Given the description of an element on the screen output the (x, y) to click on. 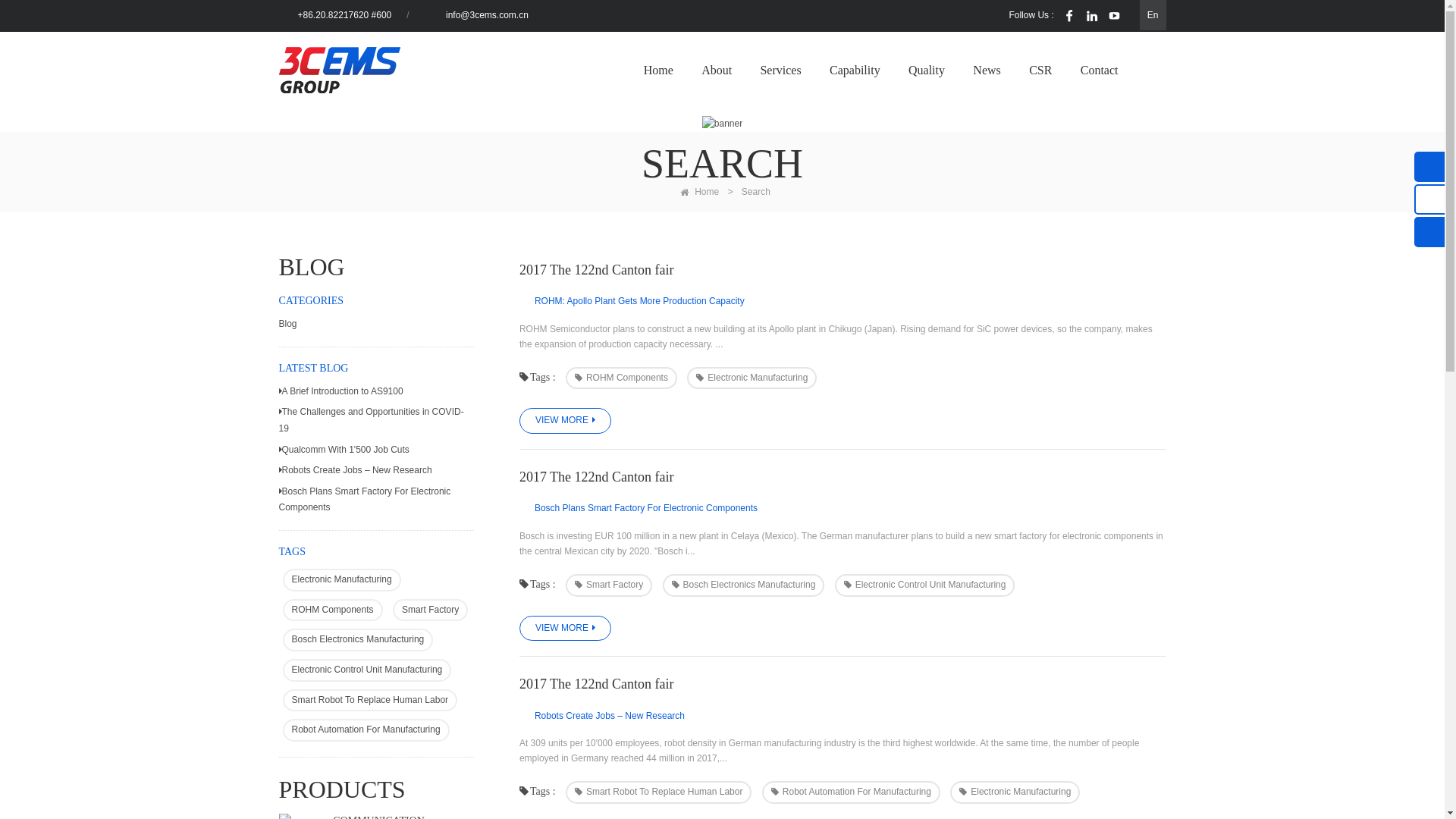
A Brief Introduction to AS9100 Element type: text (376, 391)
About Element type: text (716, 70)
Contact Element type: text (1099, 70)
2017 The 122nd Canton fair Element type: text (842, 683)
News Element type: text (986, 70)
Robot Automation For Manufacturing Element type: text (851, 792)
Smart Factory Element type: text (608, 585)
VIEW MORE Element type: text (565, 628)
Bosch Plans Smart Factory For Electronic Components Element type: text (376, 499)
Bosch Electronics Manufacturing Element type: text (743, 585)
2017 The 122nd Canton fair Element type: text (842, 269)
2017 The 122nd Canton fair Element type: text (842, 476)
Electronic Control Unit Manufacturing Element type: text (924, 585)
The Challenges and Opportunities in COVID-19 Element type: text (376, 420)
Electronic Manufacturing Element type: text (341, 579)
ROHM Components Element type: text (621, 378)
Robot Automation For Manufacturing Element type: text (365, 729)
info@3cems.com.cn Element type: text (486, 14)
Smart Robot To Replace Human Labor Element type: text (369, 700)
Capability Element type: text (854, 70)
3CEMS Group. Element type: hover (339, 69)
Bosch Electronics Manufacturing Element type: text (357, 639)
Electronic Manufacturing Element type: text (1014, 792)
Smart Factory Element type: text (429, 610)
Home Element type: text (696, 191)
CSR Element type: text (1040, 70)
Qualcomm With 1'500 Job Cuts Element type: text (376, 450)
Electronic Manufacturing Element type: text (751, 378)
Blog Element type: text (376, 324)
Home Element type: text (658, 70)
Quality Element type: text (926, 70)
Smart Robot To Replace Human Labor Element type: text (658, 792)
ROHM Components Element type: text (332, 610)
VIEW MORE Element type: text (565, 420)
Electronic Control Unit Manufacturing Element type: text (366, 669)
Services Element type: text (780, 70)
